Given the description of an element on the screen output the (x, y) to click on. 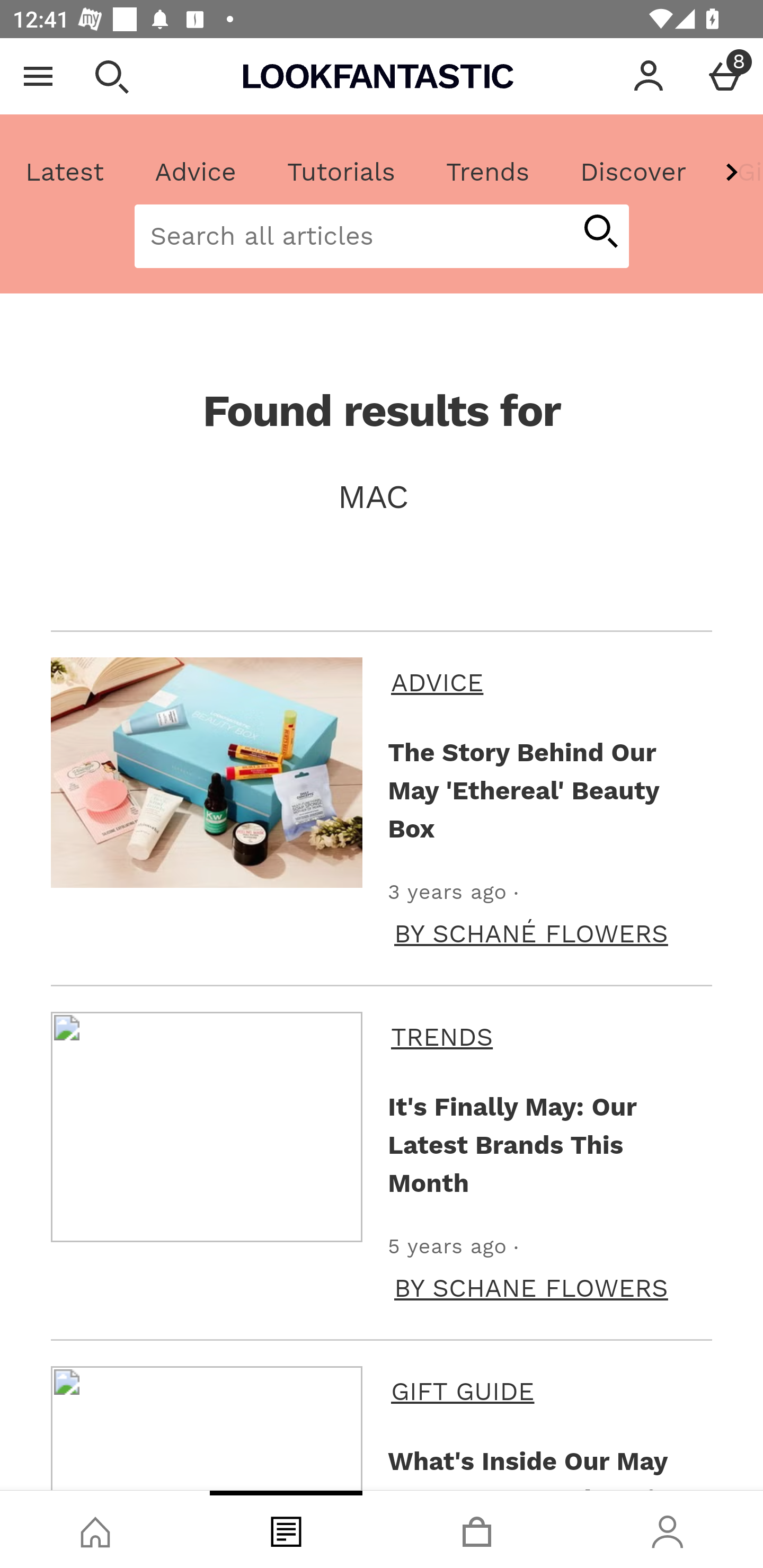
Open Menu (38, 75)
Open search (111, 75)
Account (648, 75)
Basket Menu (724, 75)
Latest (65, 172)
Advice (195, 172)
Tutorials (340, 172)
Trends (486, 172)
Discover (632, 172)
Gift Guide (736, 172)
start article search (599, 232)
MAC (381, 496)
ADVICE (547, 682)
The Story Behind Our May 'Ethereal' Beauty Box (546, 790)
BY SCHANÉ FLOWERS (531, 933)
TRENDS (547, 1037)
It's Finally May: Our Latest Brands This Month (546, 1144)
BY SCHANE FLOWERS (531, 1287)
GIFT GUIDE (547, 1391)
Shop, tab, 1 of 4 (95, 1529)
Blog, tab, 2 of 4 (285, 1529)
Basket, tab, 3 of 4 (476, 1529)
Account, tab, 4 of 4 (667, 1529)
